Given the description of an element on the screen output the (x, y) to click on. 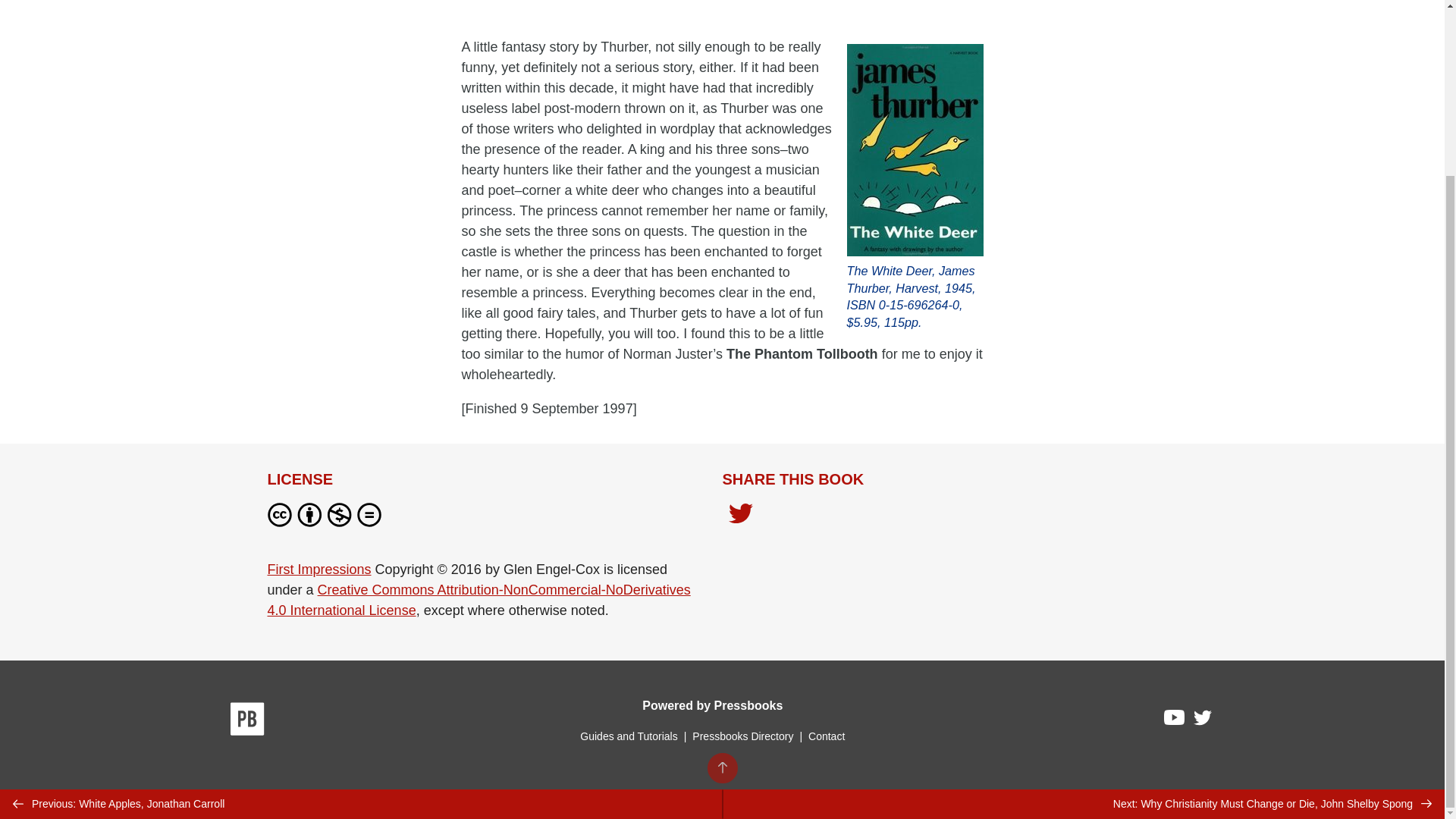
First Impressions (318, 569)
Guides and Tutorials (627, 736)
Contact (826, 736)
BACK TO TOP (721, 554)
Share on Twitter (740, 517)
Pressbooks Directory (742, 736)
Previous: White Apples, Jonathan Carroll (361, 591)
Pressbooks on YouTube (1174, 721)
Share on Twitter (740, 514)
